Given the description of an element on the screen output the (x, y) to click on. 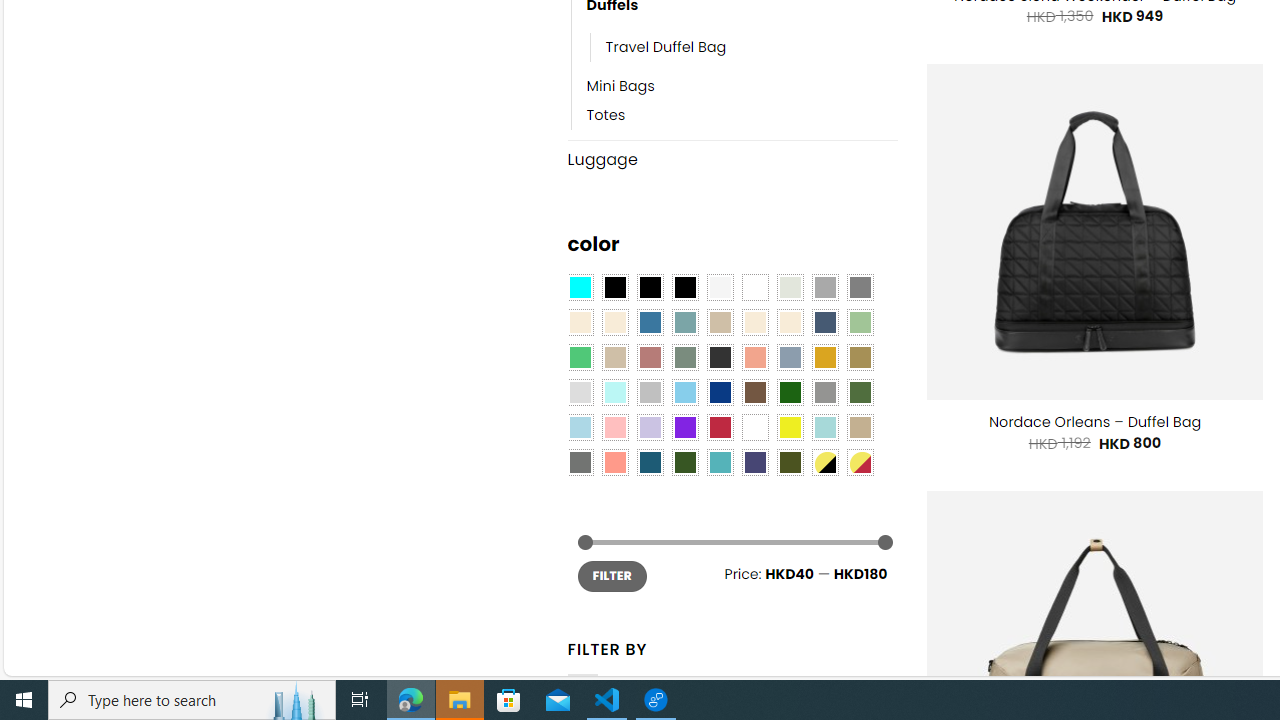
Coral (755, 357)
Mini Bags (620, 87)
Luggage (732, 160)
Yellow (789, 427)
Teal (719, 462)
Light Taupe (614, 357)
Caramel (755, 323)
Navy Blue (719, 393)
Yellow-Red (859, 462)
Luggage (732, 159)
Dark Gray (824, 287)
Blue (650, 323)
Cream (789, 323)
All Black (614, 287)
Aqua Blue (579, 287)
